Given the description of an element on the screen output the (x, y) to click on. 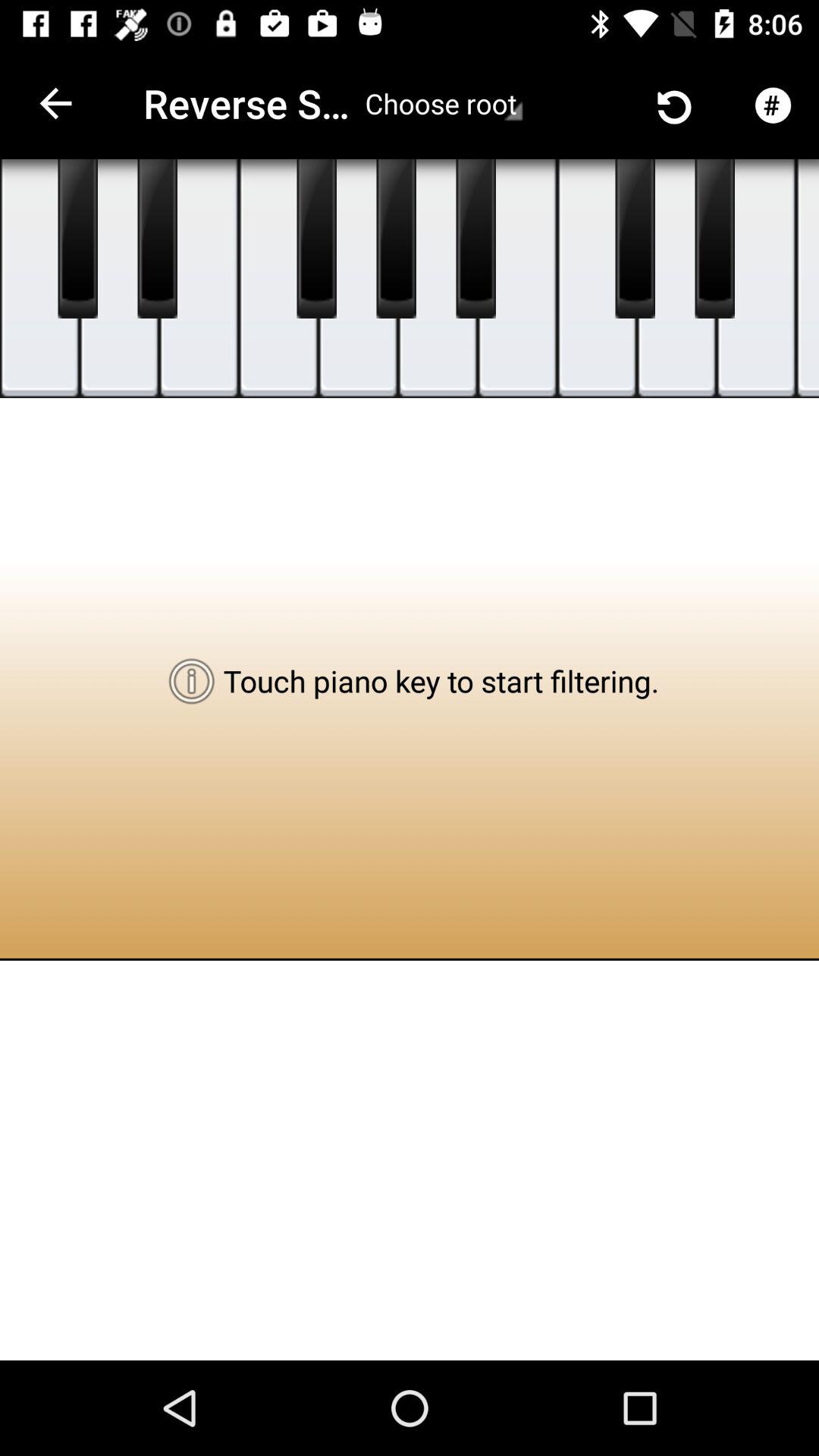
click item above the touch piano key (358, 278)
